Given the description of an element on the screen output the (x, y) to click on. 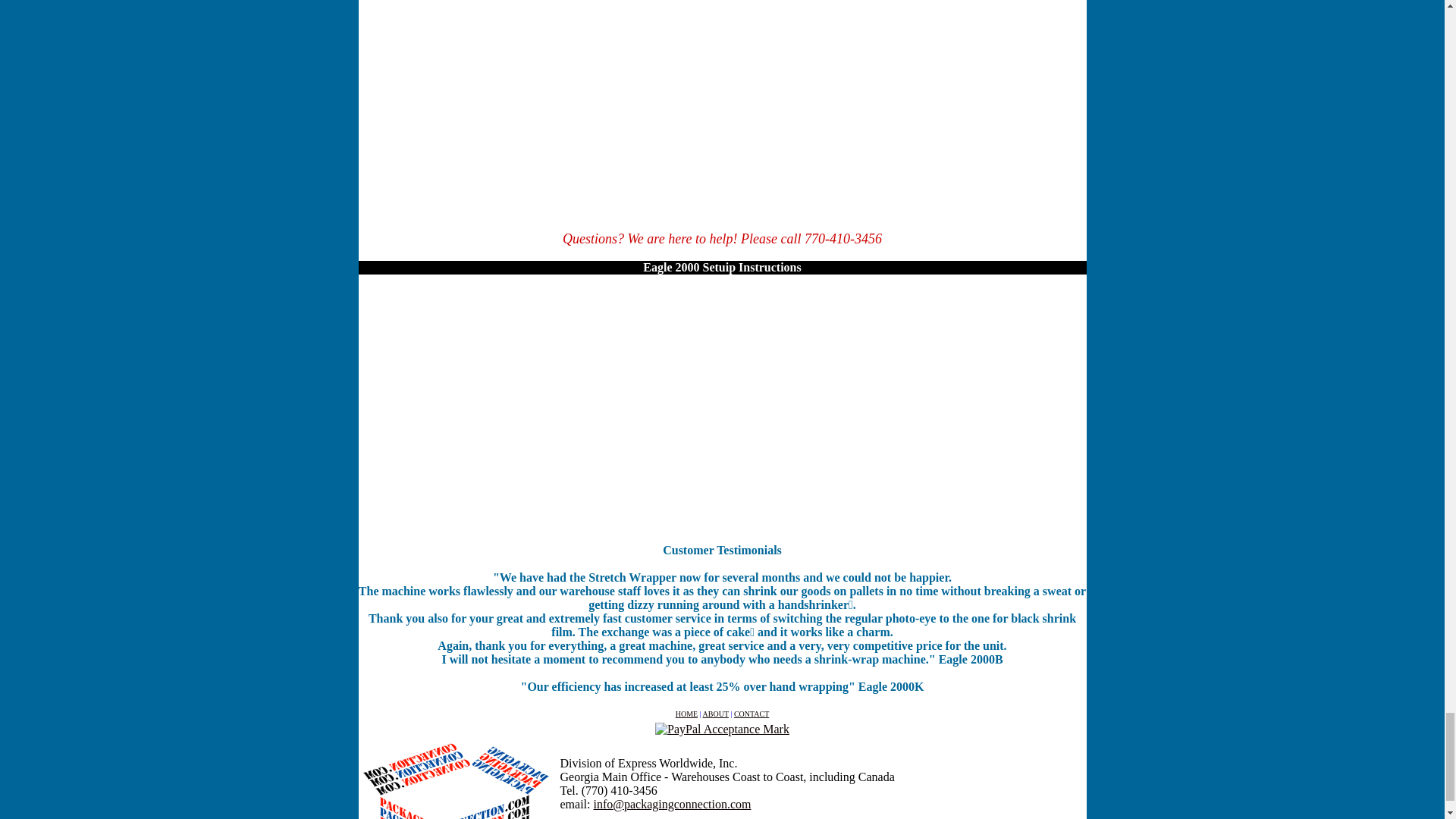
CONTACT (750, 713)
HOME (686, 714)
ABOUT (716, 714)
How PayPal Works (722, 728)
